Given the description of an element on the screen output the (x, y) to click on. 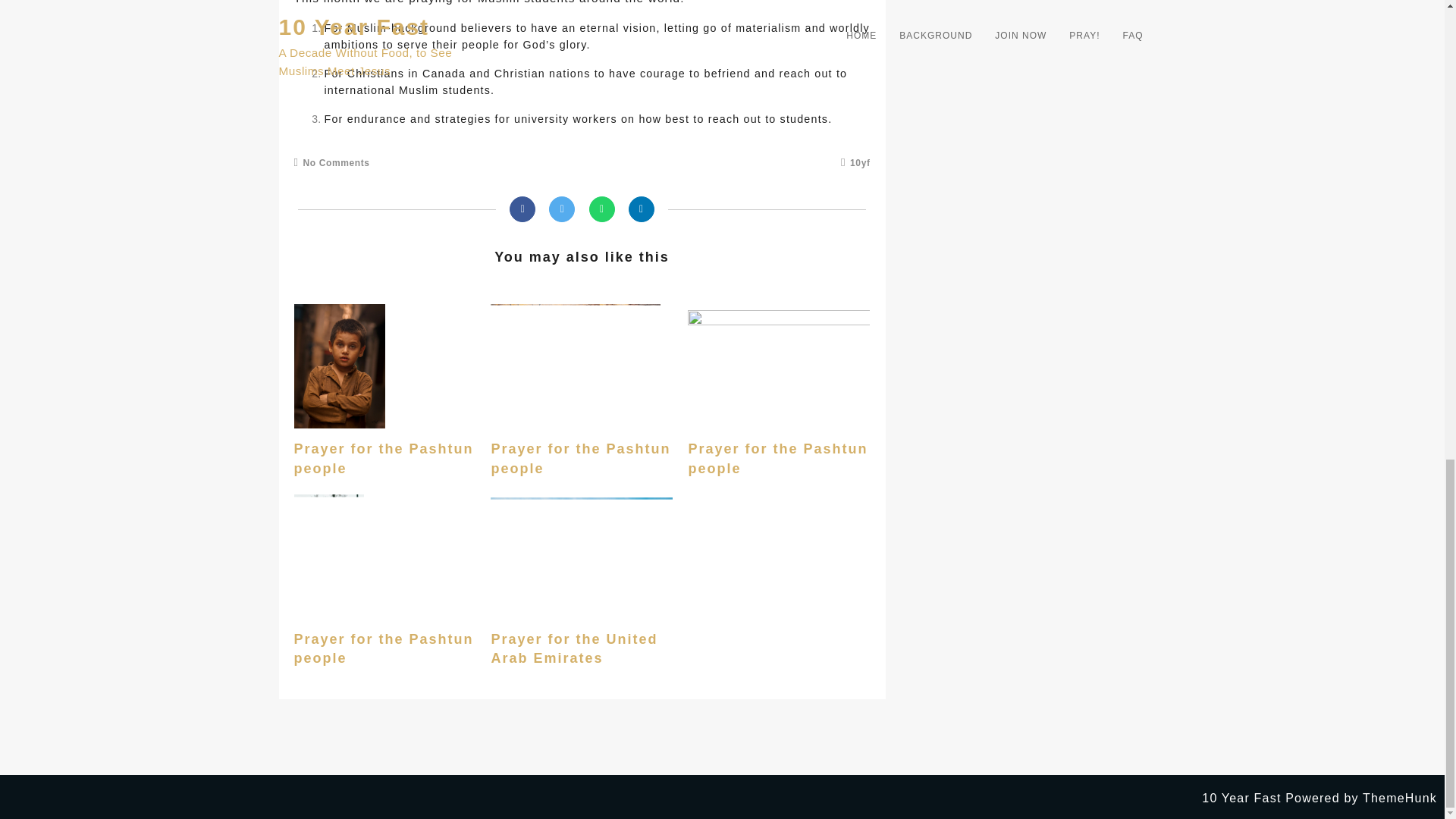
Posts by 10yf (855, 163)
10yf (855, 163)
Prayer for the United Arab Emirates (574, 648)
Prayer for the Pashtun people (777, 458)
Powered by ThemeHunk (1361, 797)
Prayer for the Pashtun people (579, 458)
10 Year Fast (1241, 797)
Prayer for the Pashtun people (384, 458)
Prayer for the Pashtun people (384, 648)
No Comments (331, 163)
